Given the description of an element on the screen output the (x, y) to click on. 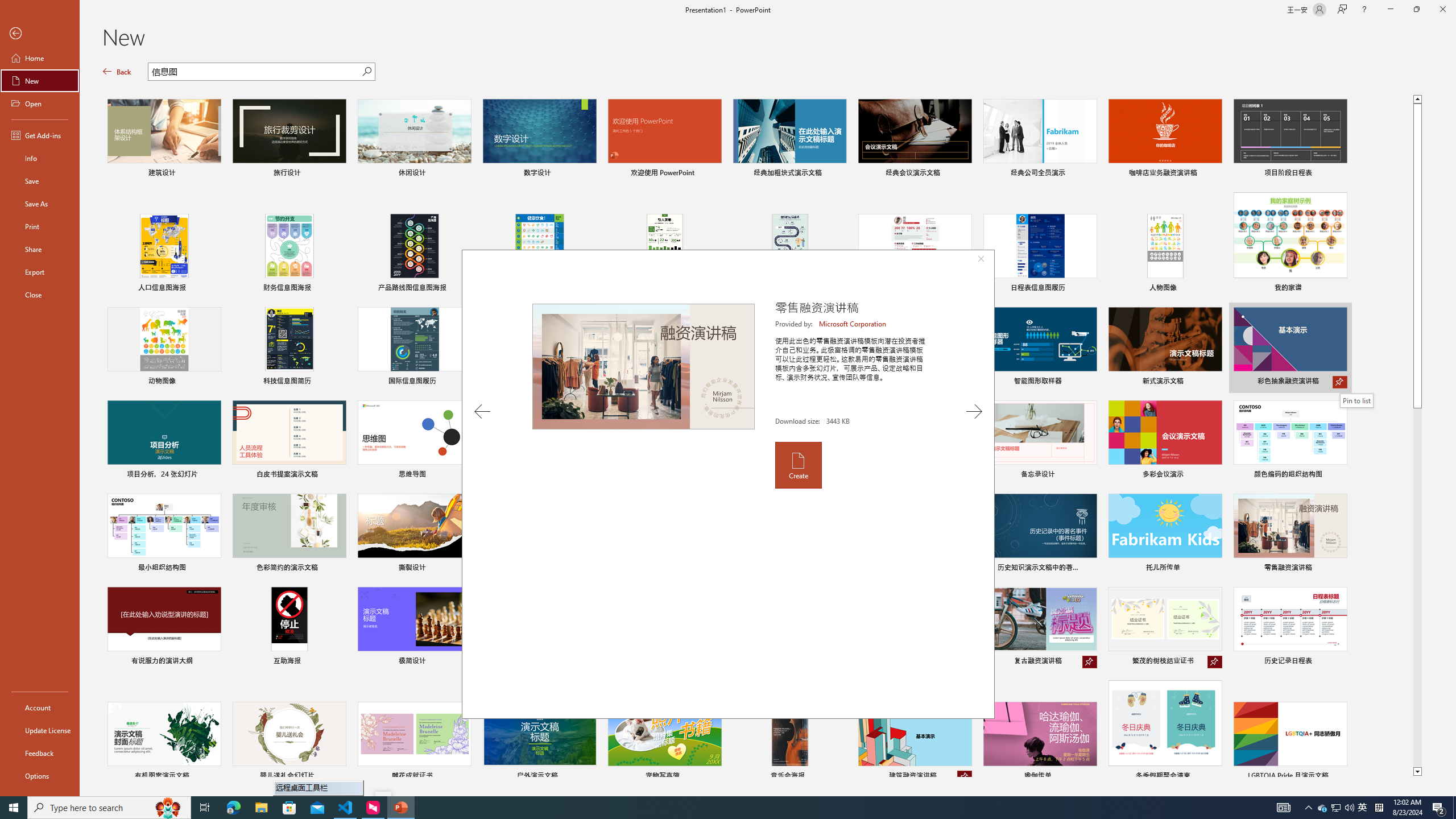
Microsoft Corporation (853, 323)
Previous Template (481, 411)
Back (40, 33)
